Given the description of an element on the screen output the (x, y) to click on. 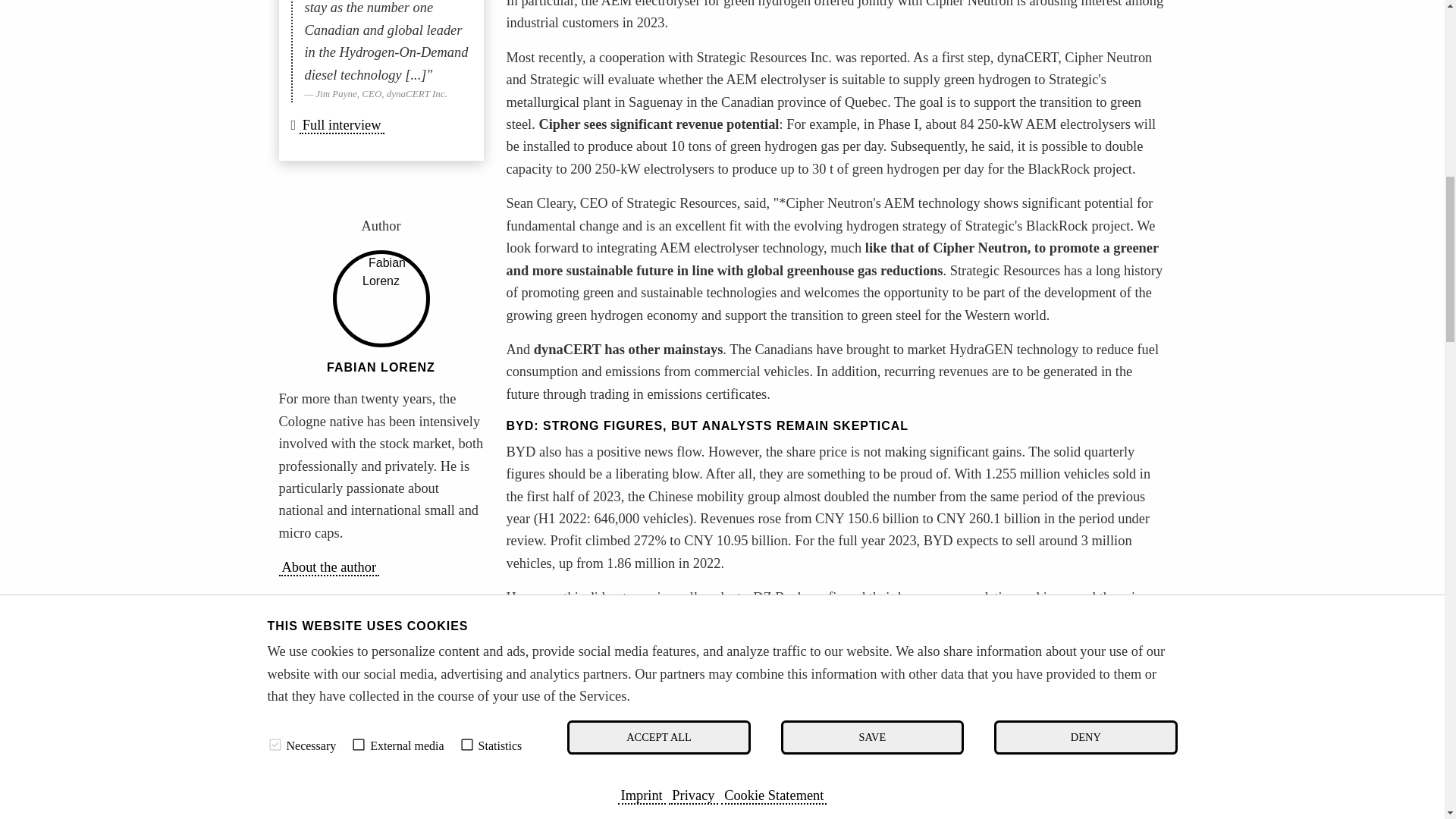
HYDROGEN (320, 718)
TUNGSTEN (385, 639)
Full interview (341, 125)
Fabian Lorenz (380, 367)
About the author (329, 567)
TRAVEL (311, 655)
CHIPS (307, 702)
FABIAN LORENZ (380, 367)
DEFENSE (382, 655)
BIOTECH (431, 671)
AI (452, 686)
BITCOIN (370, 702)
GOLD (417, 750)
Fabian Lorenz (380, 298)
PHARMA (313, 686)
